Given the description of an element on the screen output the (x, y) to click on. 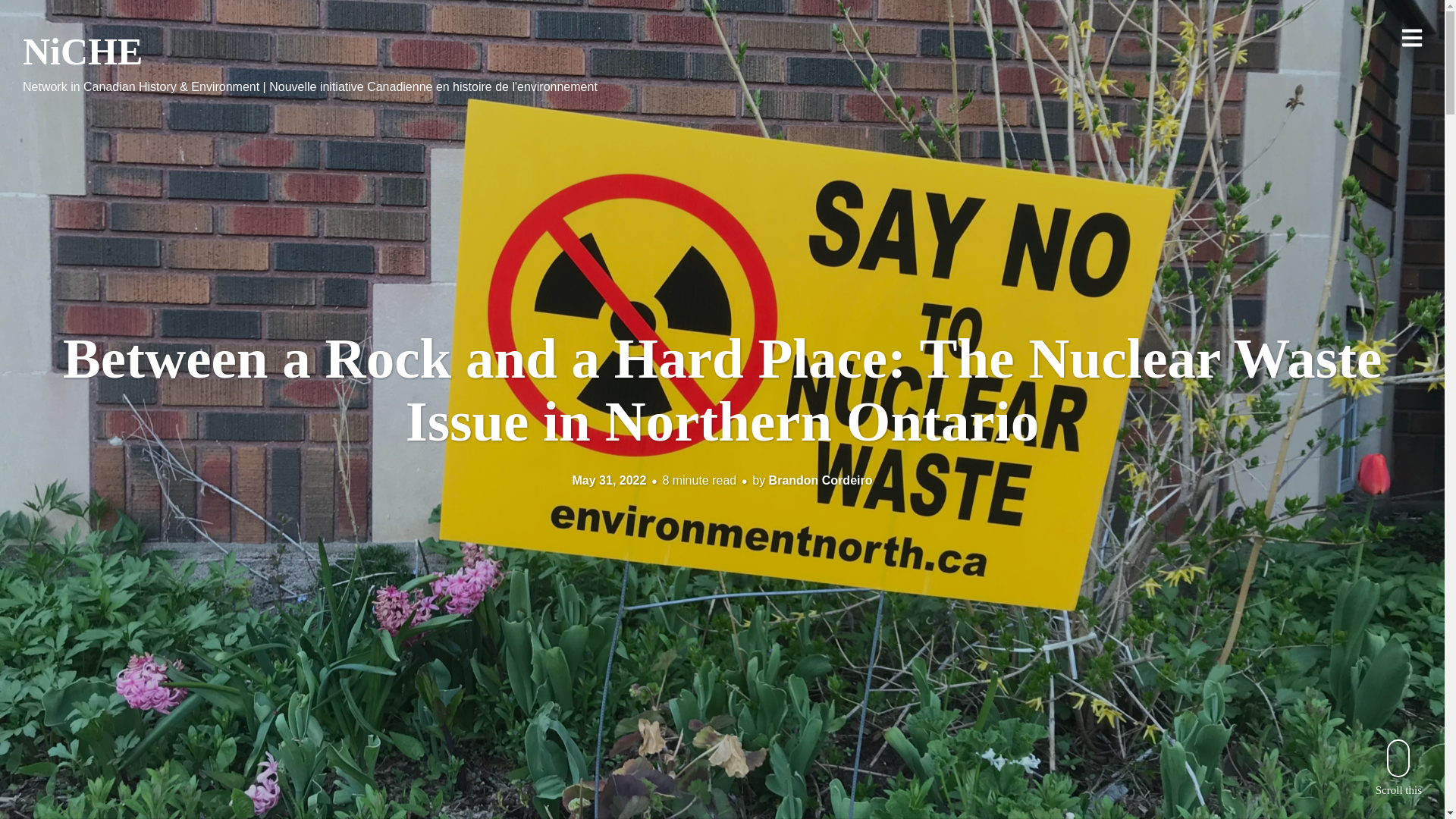
May 31, 2022 (609, 480)
Brandon Cordeiro (820, 480)
7:00 am (609, 480)
NiCHE (82, 51)
